Given the description of an element on the screen output the (x, y) to click on. 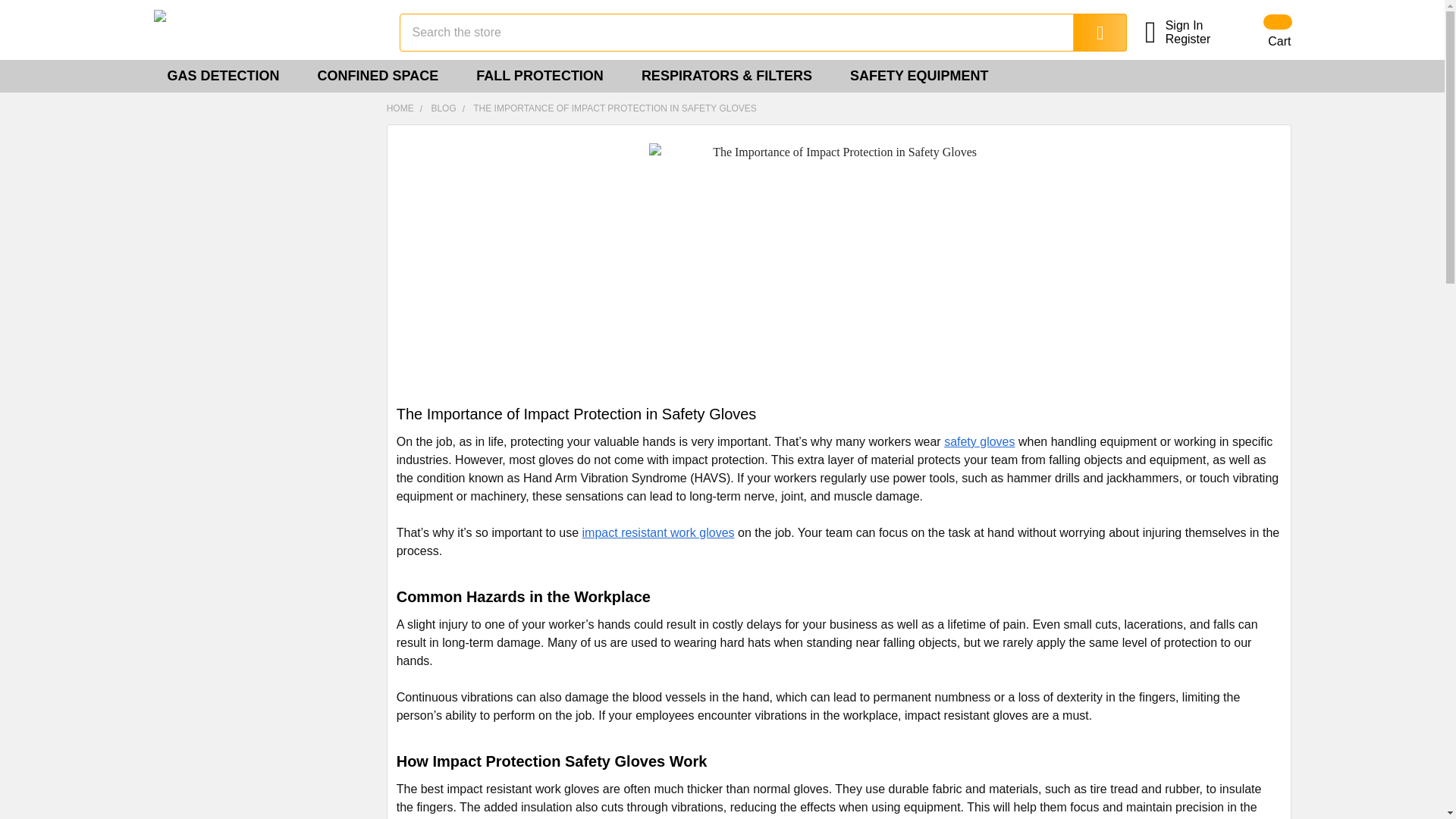
Search (1088, 32)
Sign In (1197, 25)
Register (1197, 38)
CONFINED SPACE (383, 75)
GAS DETECTION (227, 75)
Cart (1259, 31)
Search (1088, 32)
Cart (1259, 31)
The Importance of Impact Protection in Safety Gloves (838, 269)
